Given the description of an element on the screen output the (x, y) to click on. 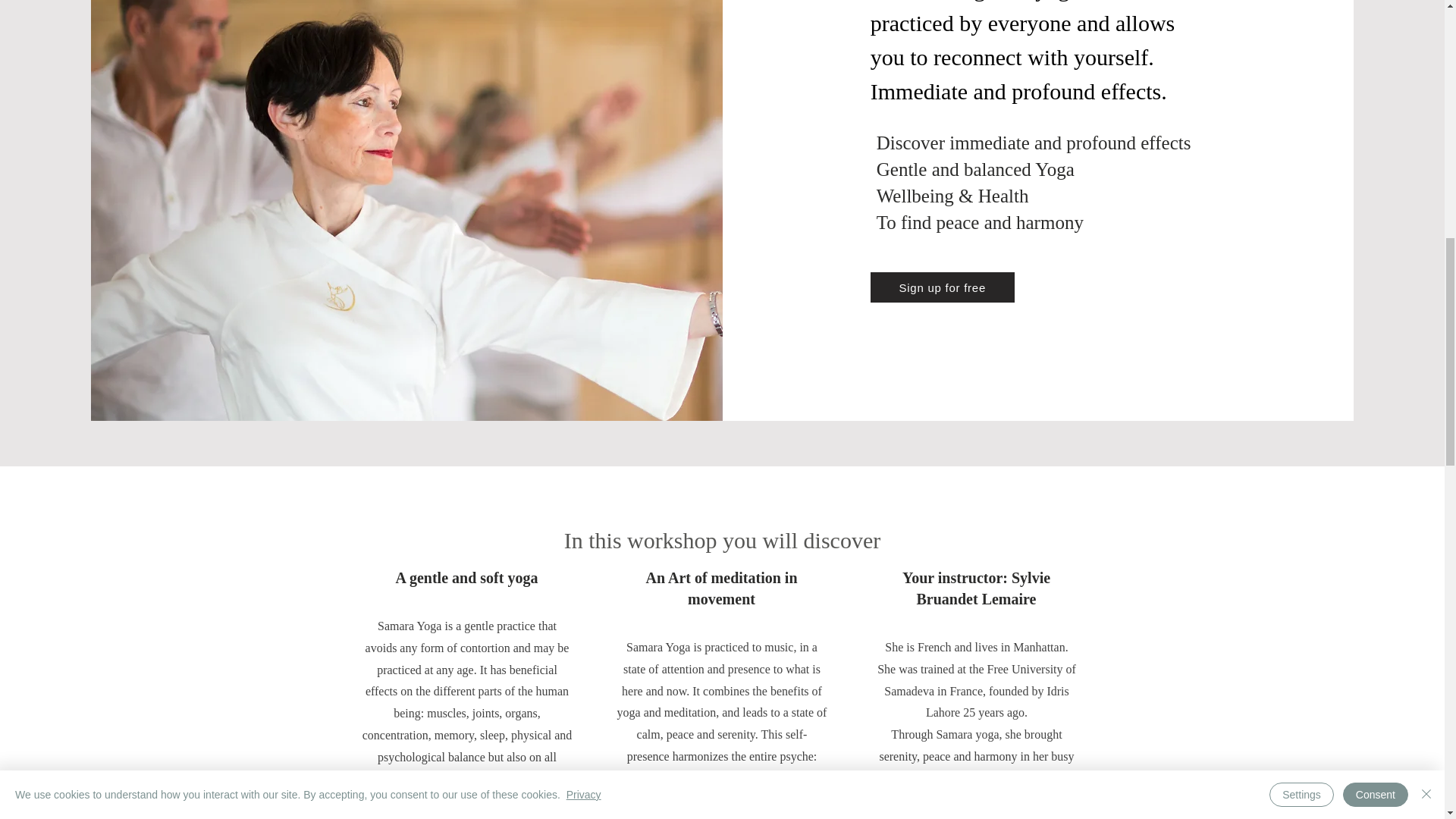
Sign up for free (942, 286)
